Given the description of an element on the screen output the (x, y) to click on. 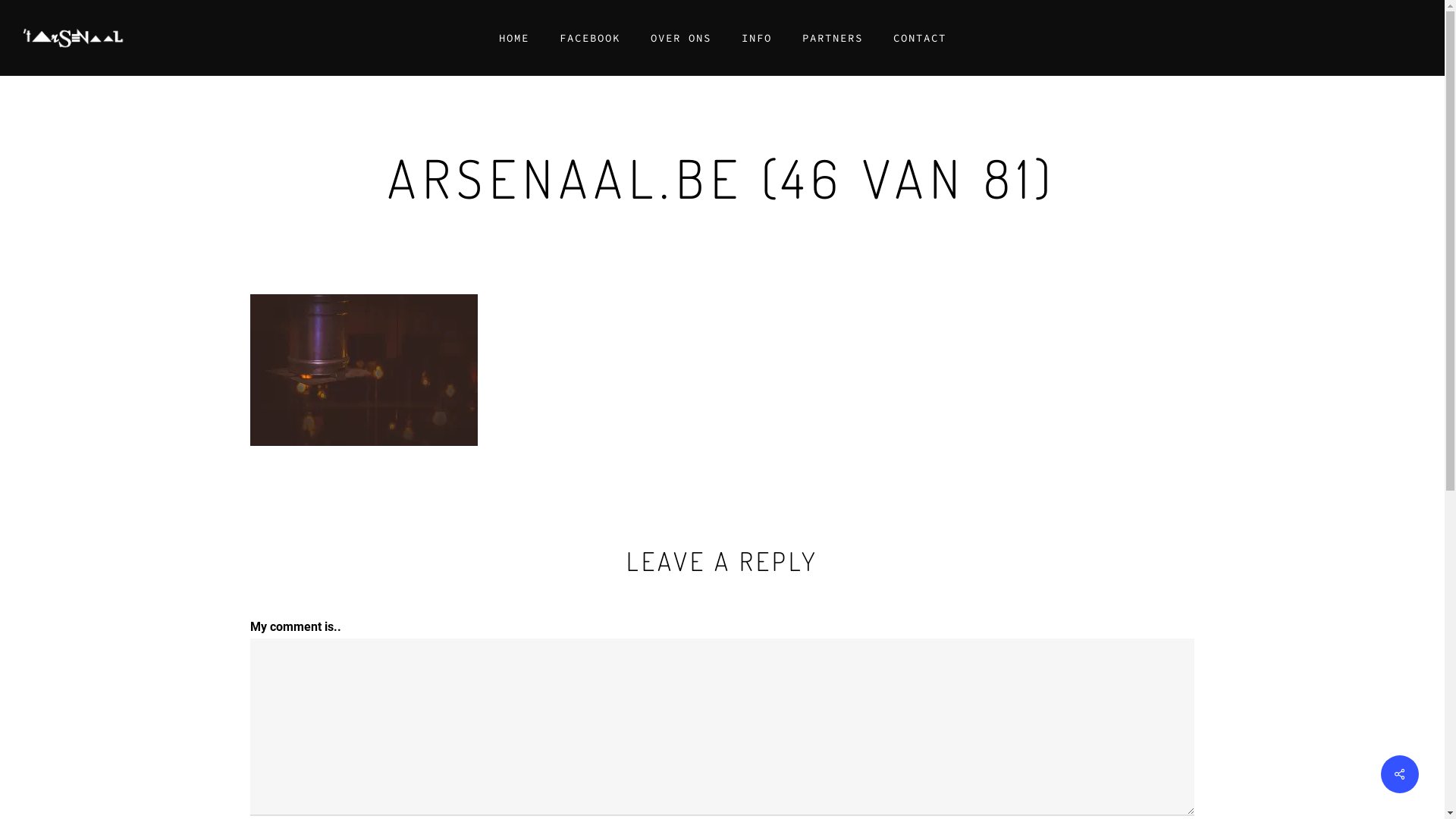
OVER ONS Element type: text (680, 37)
FACEBOOK Element type: text (589, 37)
PARTNERS Element type: text (832, 37)
CONTACT Element type: text (919, 37)
INFO Element type: text (756, 37)
Steven Decaluwe Element type: text (756, 757)
HOME Element type: text (513, 37)
facebook Element type: text (722, 709)
